Given the description of an element on the screen output the (x, y) to click on. 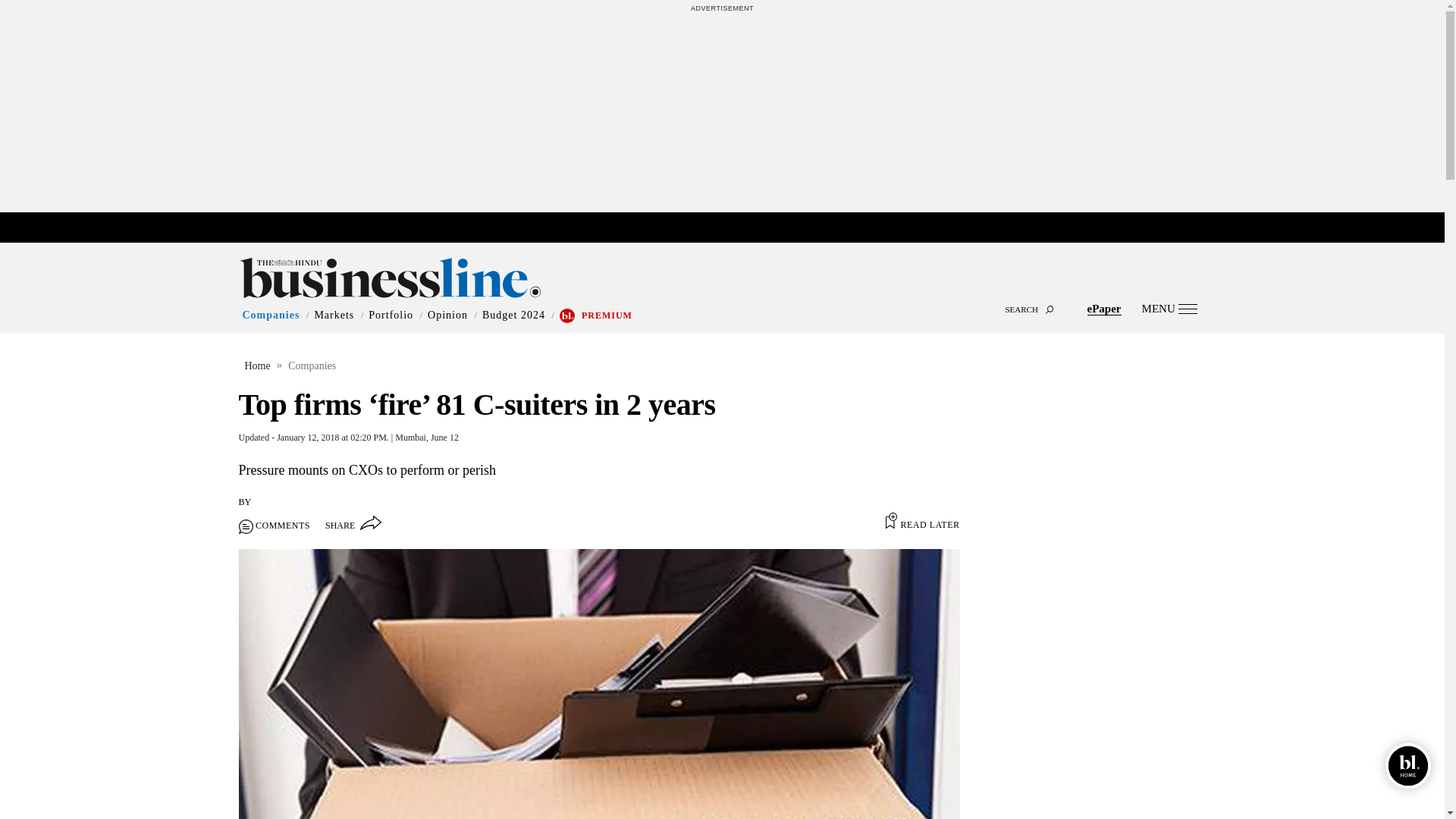
ePaper (1104, 308)
Opinion (447, 315)
Companies (271, 315)
SEARCH (721, 295)
PREMIUM (605, 315)
Portfolio (390, 315)
MENU (1168, 308)
Budget 2024 (512, 315)
marketupdate (729, 228)
